Given the description of an element on the screen output the (x, y) to click on. 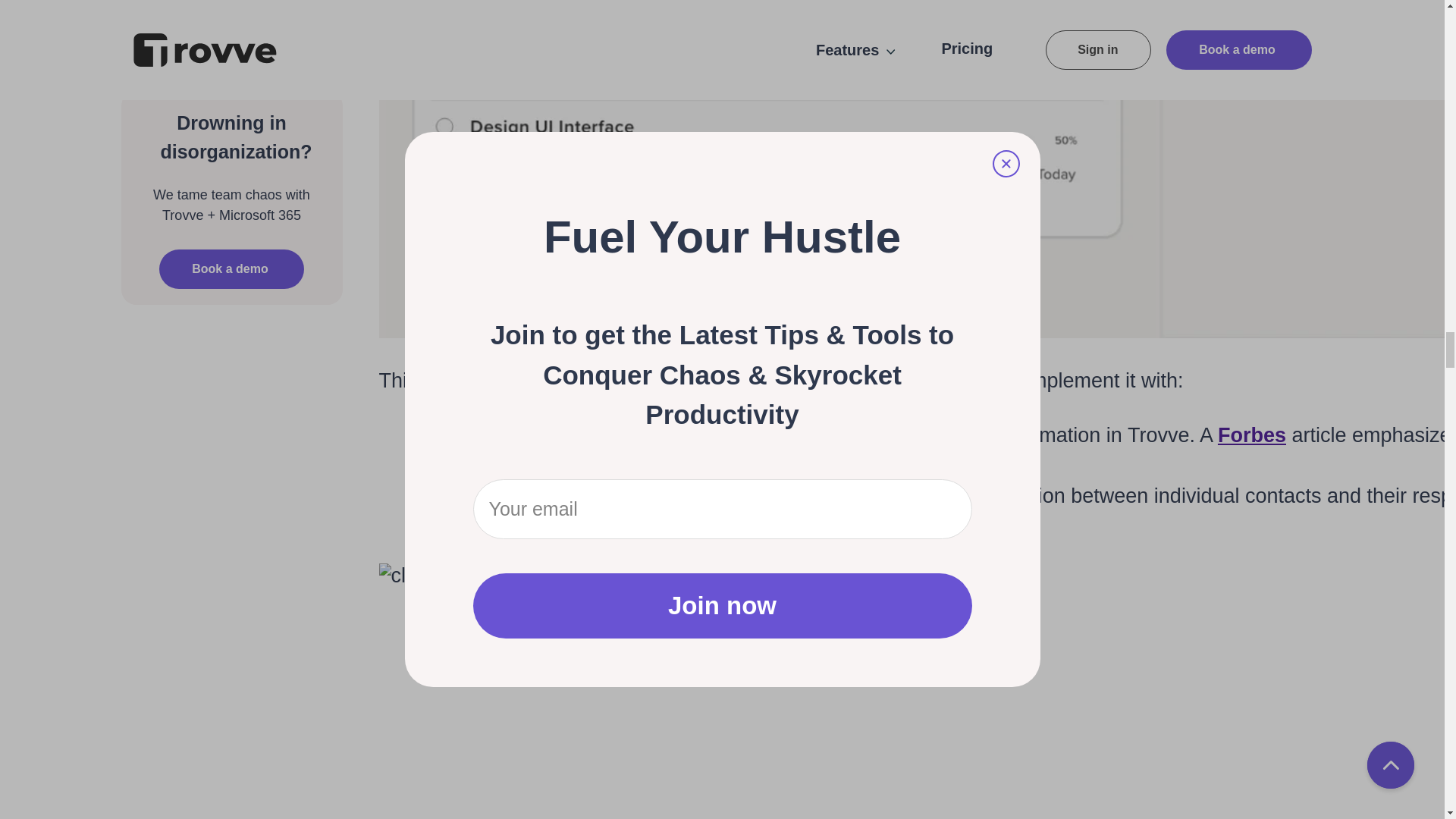
Forbes (1251, 435)
